Given the description of an element on the screen output the (x, y) to click on. 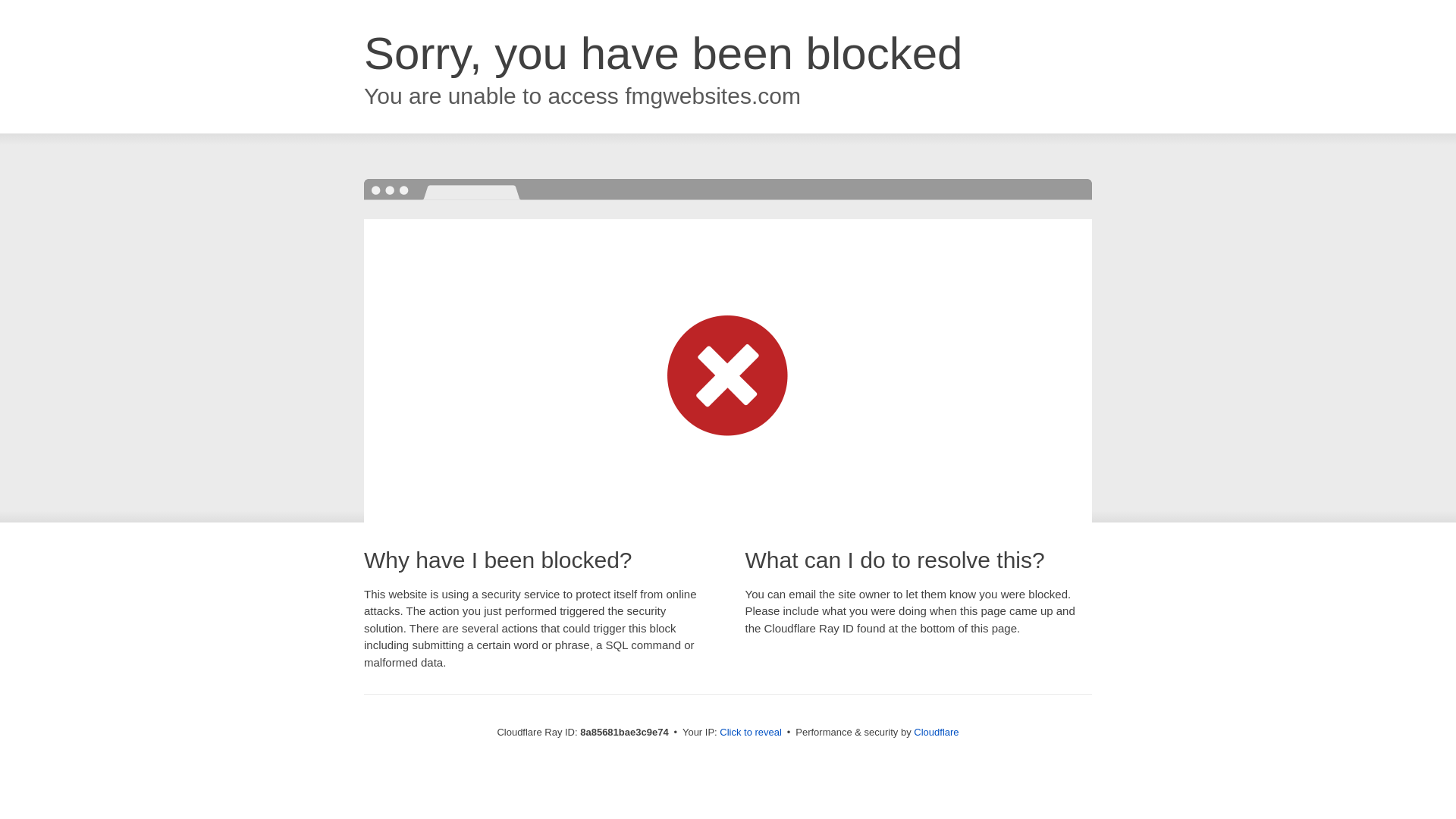
Cloudflare (936, 731)
Click to reveal (750, 732)
